Given the description of an element on the screen output the (x, y) to click on. 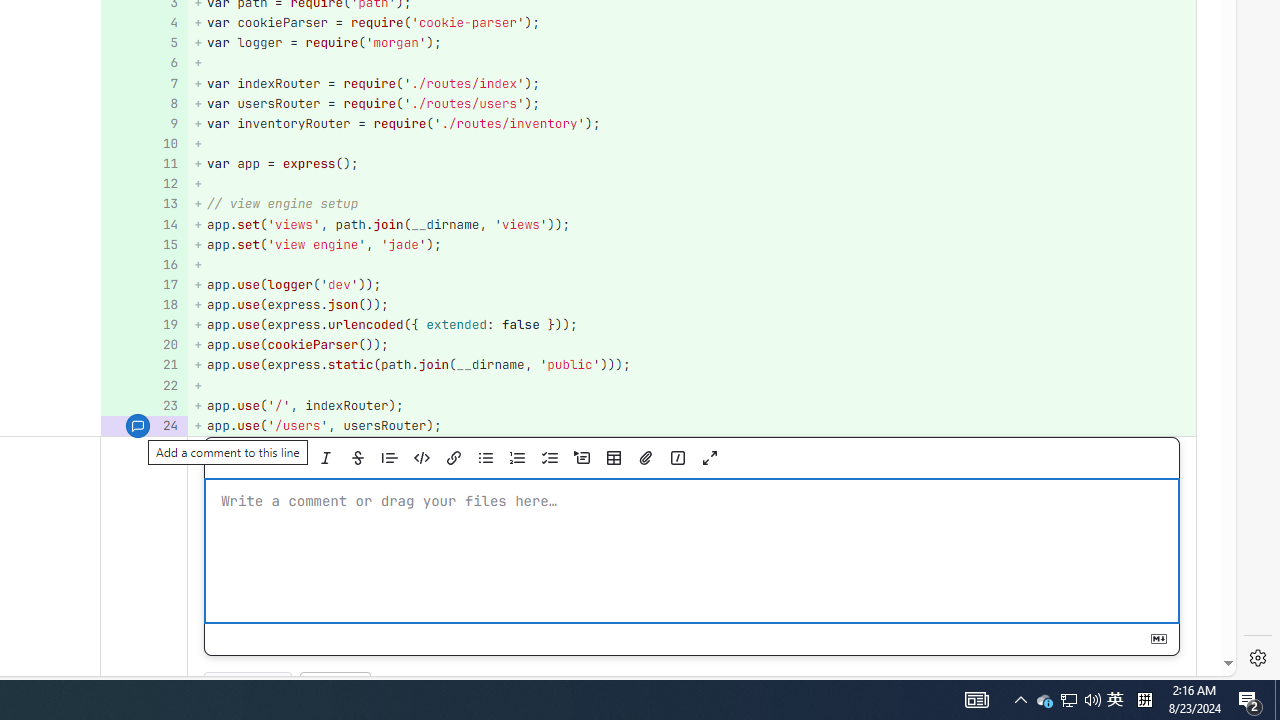
Class: div-dropzone-icon s24 (689, 551)
Attach a file or image (645, 457)
+ var cookieParser = require('cookie-parser');  (691, 22)
Add a comment to this line 11 (144, 164)
Add italic text (Ctrl+I) (325, 457)
Add a comment to this line 9 (144, 123)
Comment (248, 687)
14 (141, 223)
Add a numbered list (517, 457)
